Given the description of an element on the screen output the (x, y) to click on. 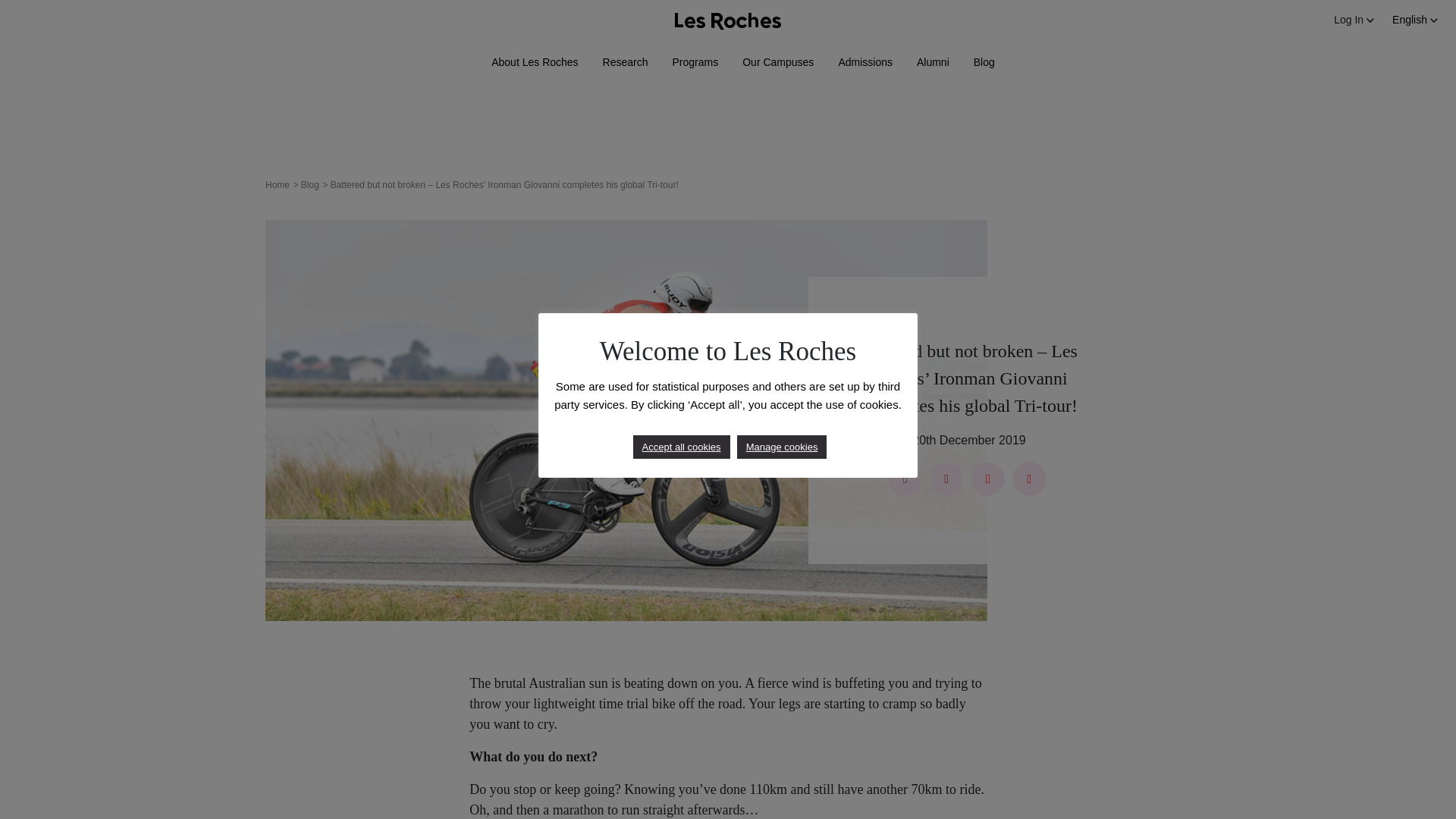
About Les Roches (535, 62)
English (1414, 19)
About Les Roches (535, 62)
Log In (1353, 19)
